Given the description of an element on the screen output the (x, y) to click on. 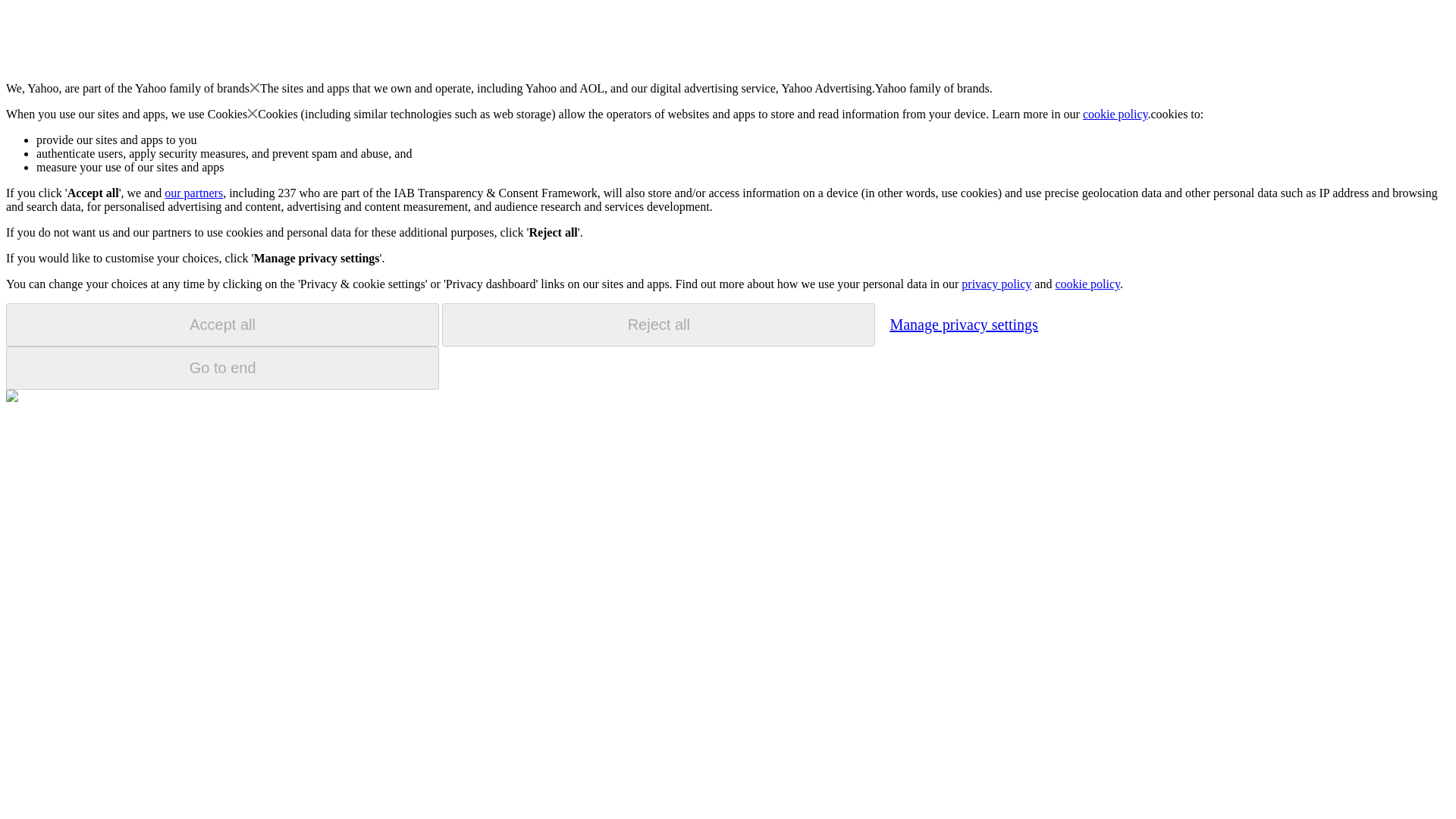
cookie policy (1115, 113)
Manage privacy settings (963, 323)
our partners (193, 192)
Accept all (222, 324)
Go to end (222, 367)
cookie policy (1086, 283)
Reject all (658, 324)
privacy policy (995, 283)
